Given the description of an element on the screen output the (x, y) to click on. 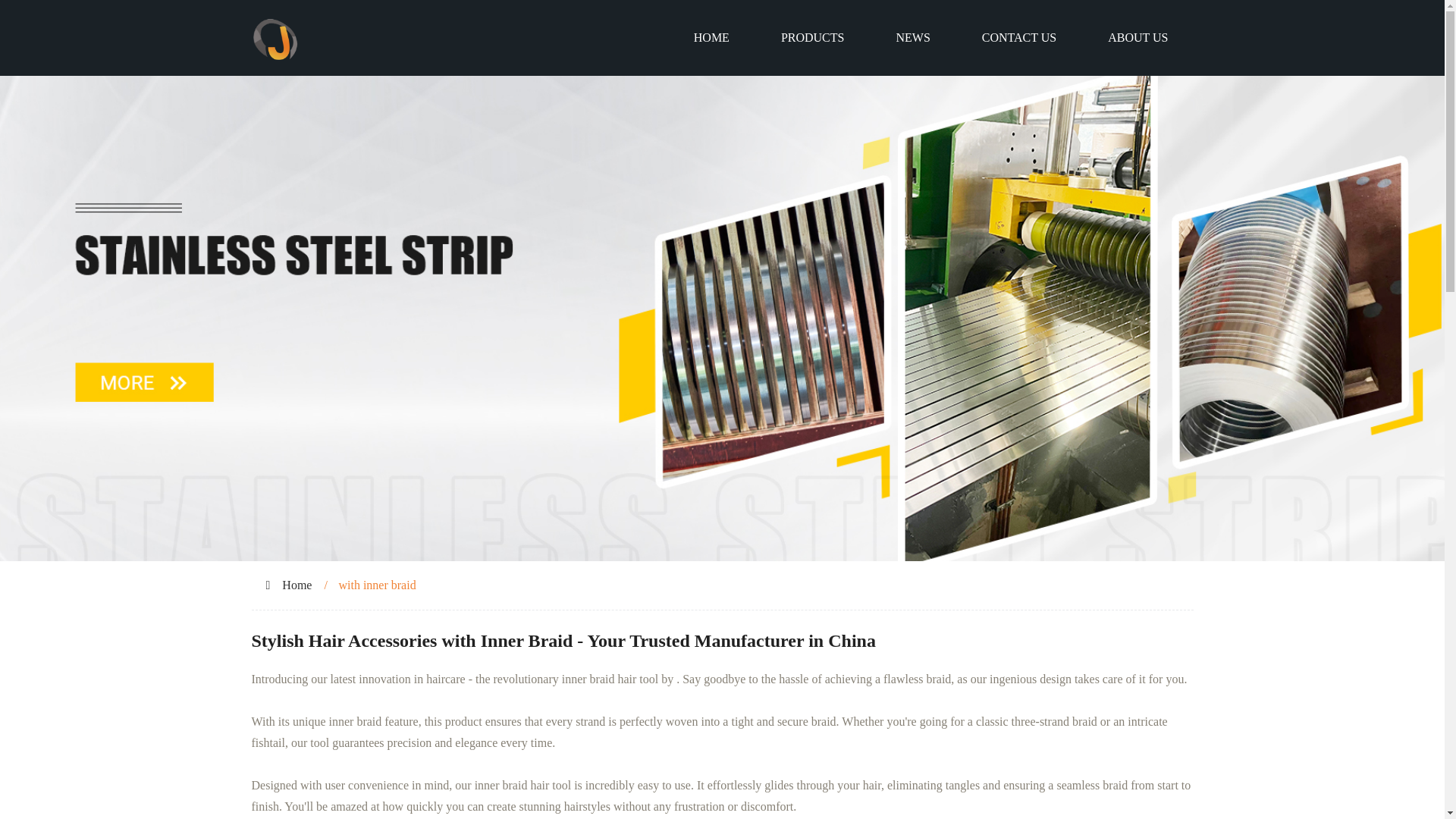
PRODUCTS (812, 38)
Home (296, 584)
CONTACT US (1018, 38)
